Given the description of an element on the screen output the (x, y) to click on. 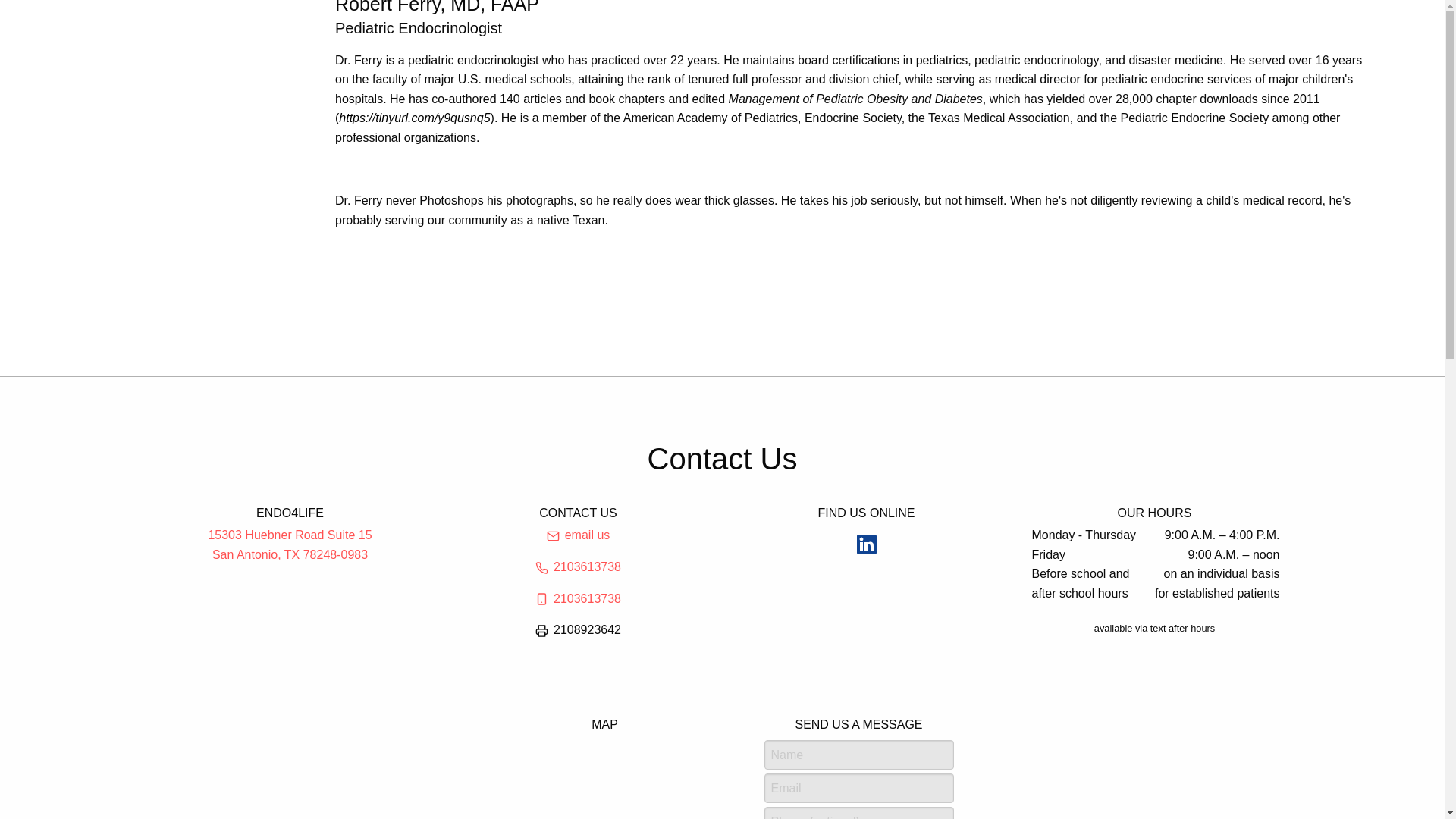
2103613738 (578, 598)
2103613738 (289, 544)
email us (578, 566)
